Given the description of an element on the screen output the (x, y) to click on. 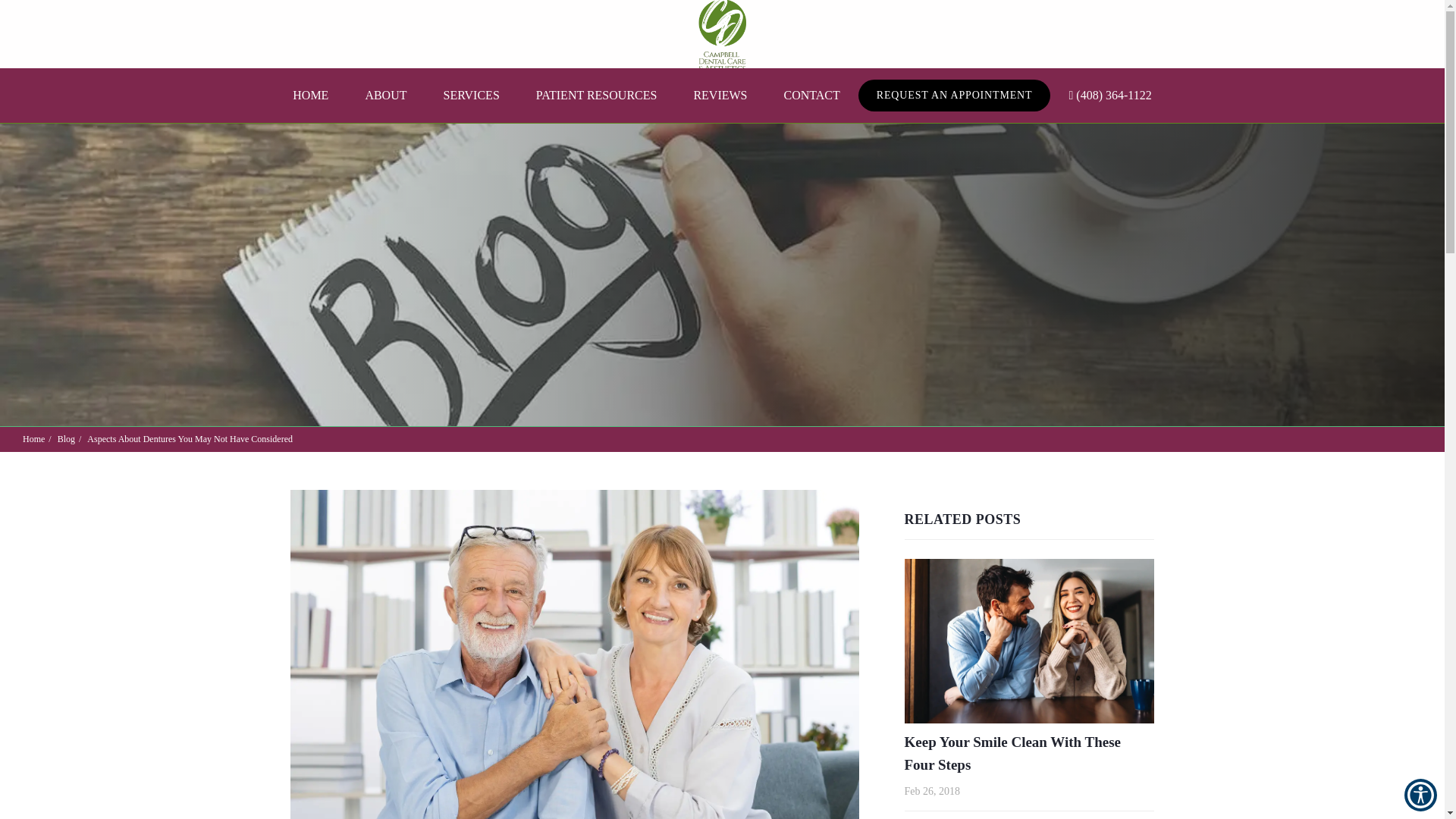
ABOUT (385, 95)
PATIENT RESOURCES (596, 95)
Blog (66, 439)
CONTACT (812, 95)
Home (34, 439)
SERVICES (470, 95)
REQUEST AN APPOINTMENT (955, 95)
HOME (310, 95)
REVIEWS (720, 95)
